Given the description of an element on the screen output the (x, y) to click on. 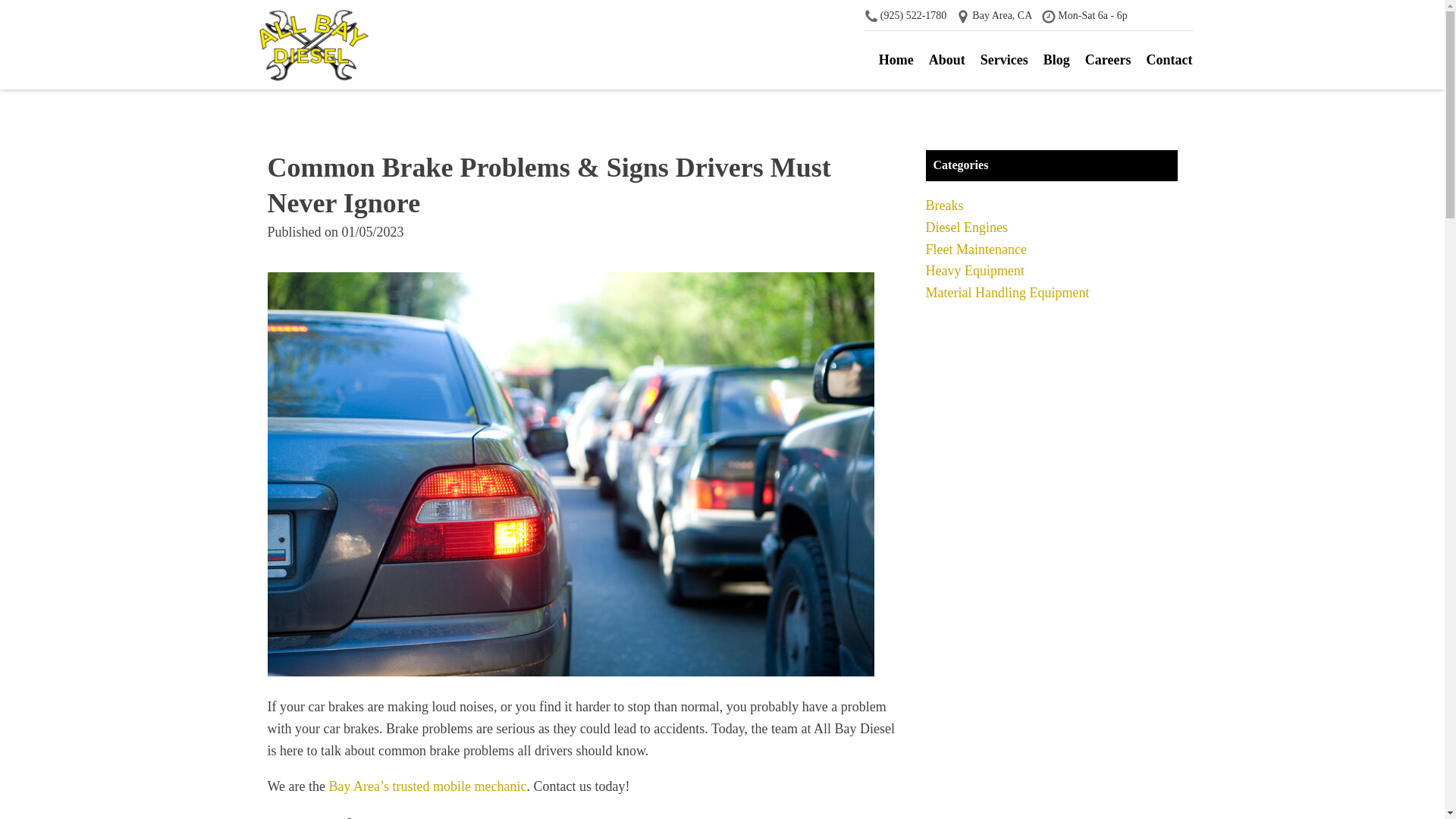
Careers (1107, 60)
About (946, 60)
Diesel Engines (965, 227)
Heavy Equipment (973, 270)
Material Handling Equipment (1006, 292)
Services (1003, 60)
Contact (1169, 60)
Blog (1056, 60)
Fleet Maintenance (975, 249)
Home (896, 60)
Breaks (943, 205)
